Given the description of an element on the screen output the (x, y) to click on. 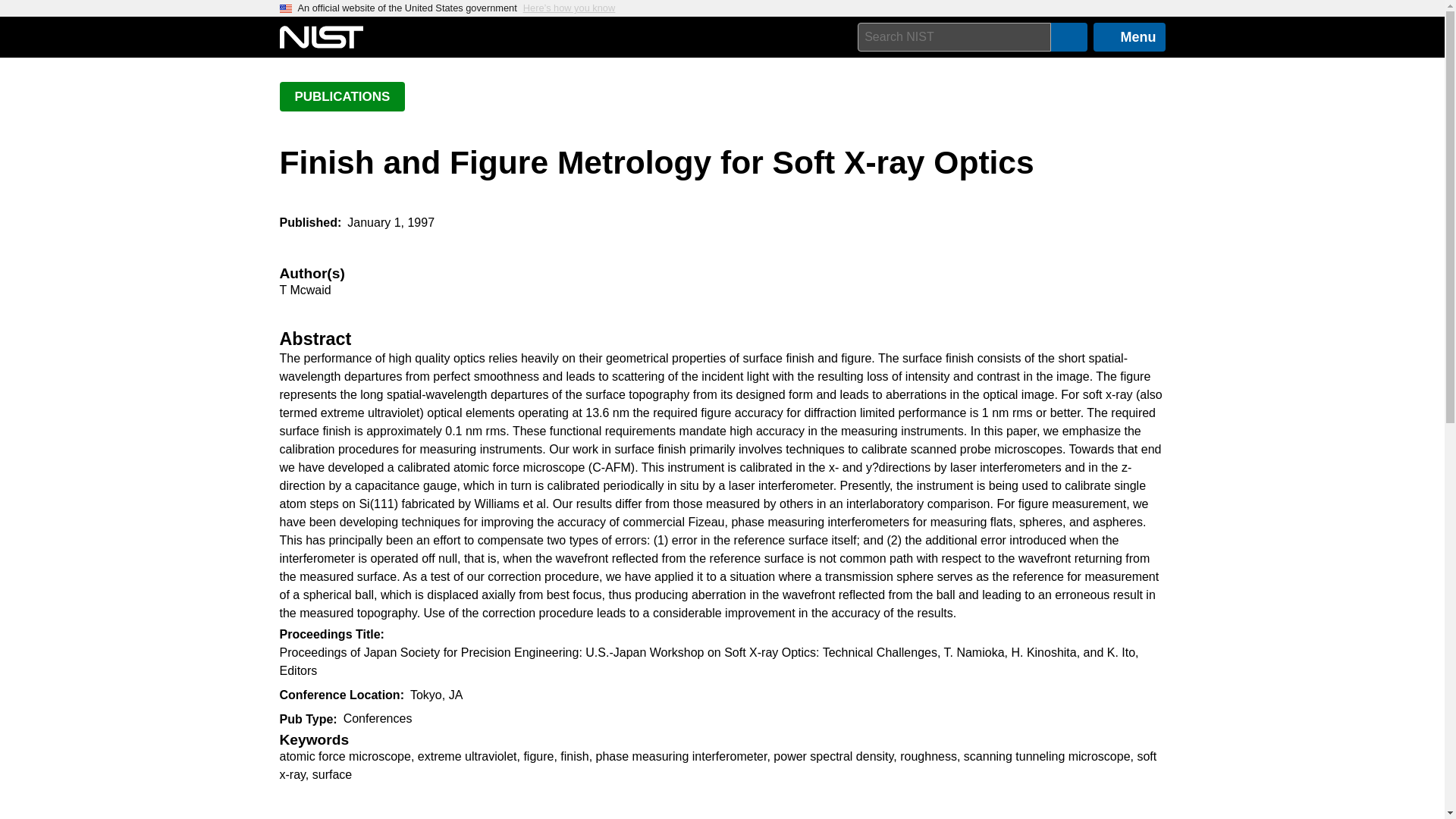
National Institute of Standards and Technology (320, 36)
Menu (1129, 36)
